Given the description of an element on the screen output the (x, y) to click on. 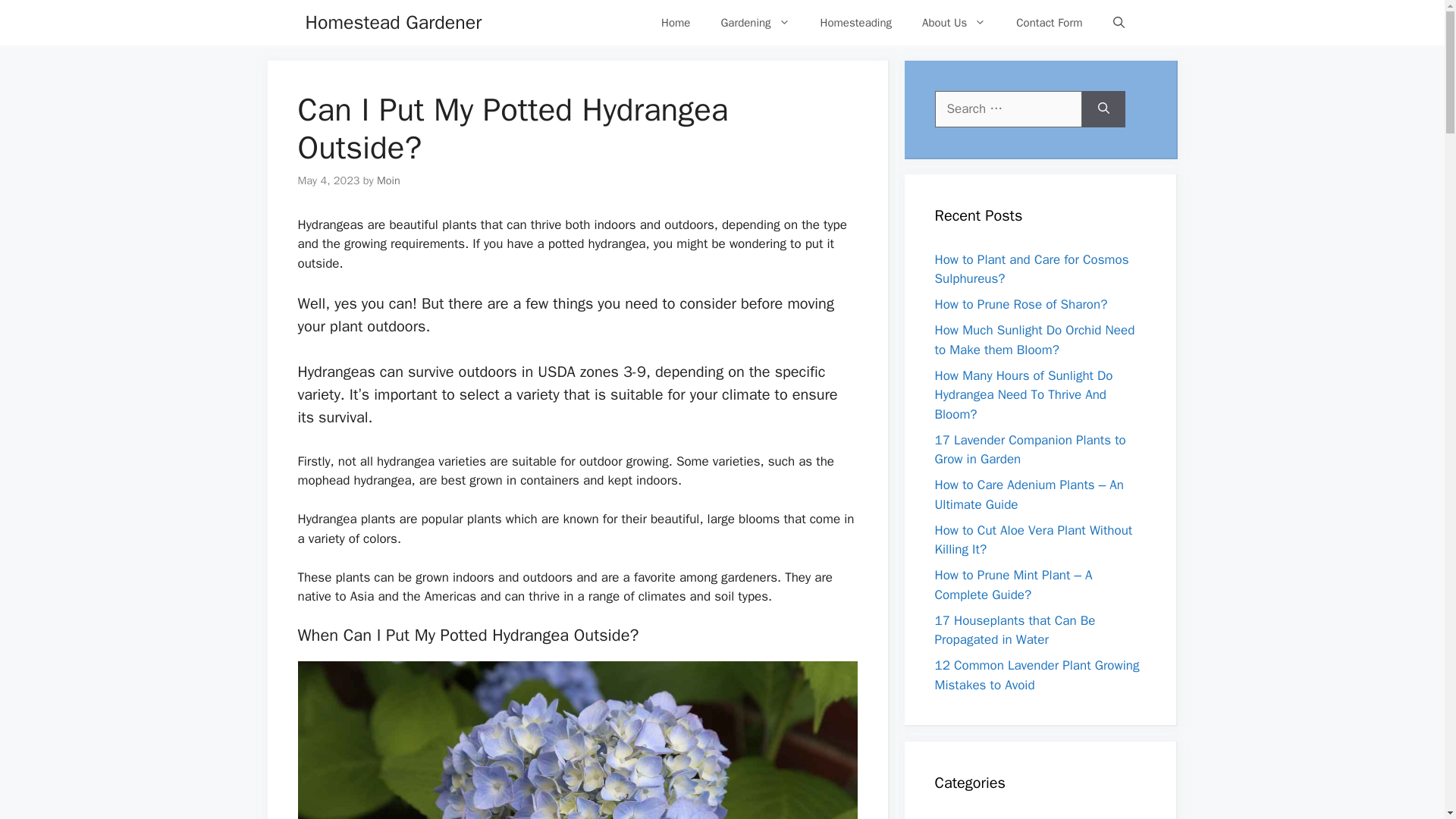
Homesteading (856, 22)
View all posts by Moin (388, 180)
How to Prune Rose of Sharon? (1020, 304)
How Much Sunlight Do Orchid Need to Make them Bloom? (1034, 339)
Search for: (1007, 108)
Home (675, 22)
How to Plant and Care for Cosmos Sulphureus? (1031, 269)
Gardening (754, 22)
17 Lavender Companion Plants to Grow in Garden (1029, 449)
About Us (954, 22)
